Given the description of an element on the screen output the (x, y) to click on. 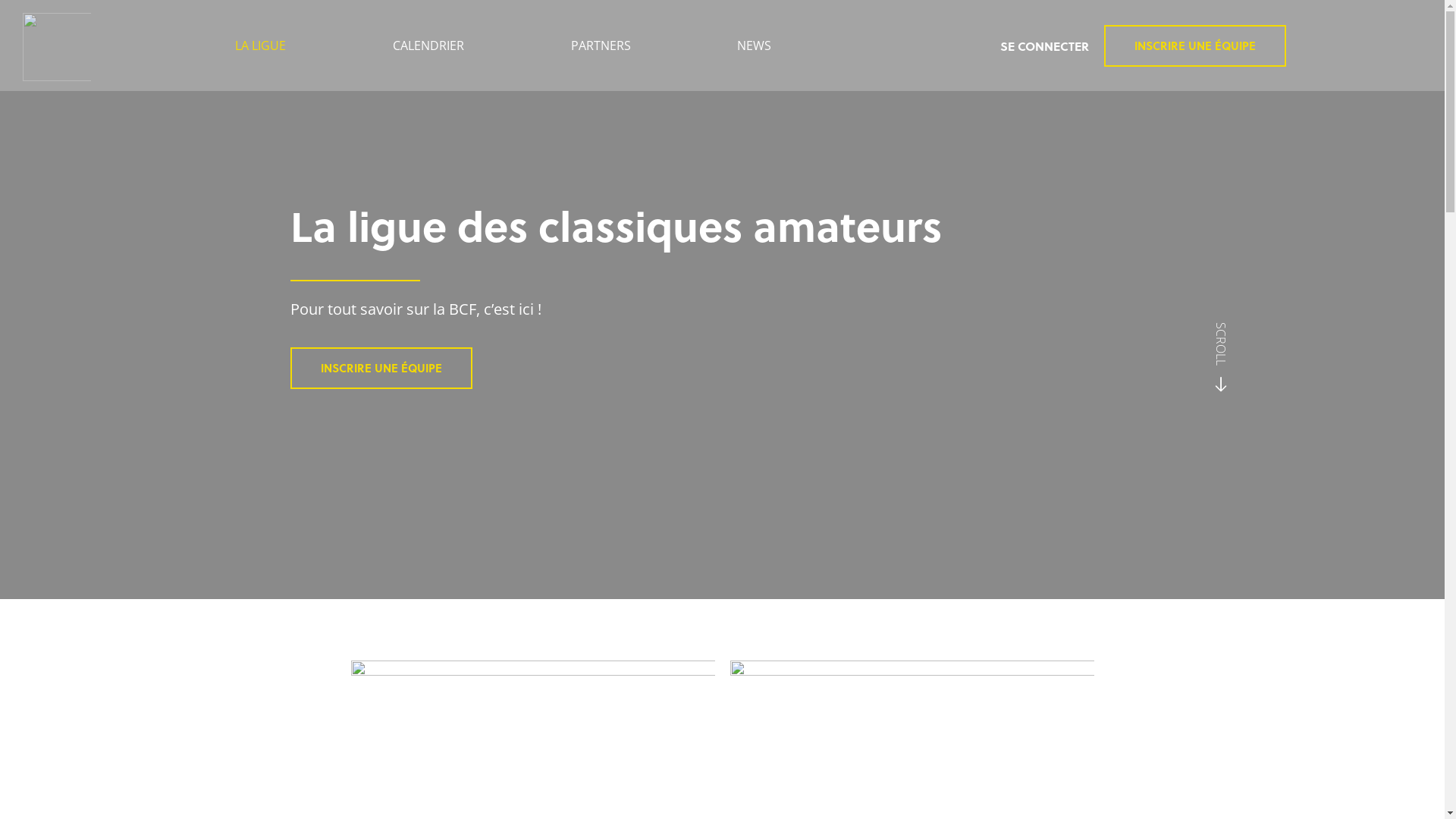
LA LIGUE Element type: text (260, 45)
PARTNERS Element type: text (600, 45)
NEWS Element type: text (754, 45)
SE CONNECTER Element type: text (1044, 45)
CALENDRIER Element type: text (428, 45)
